Given the description of an element on the screen output the (x, y) to click on. 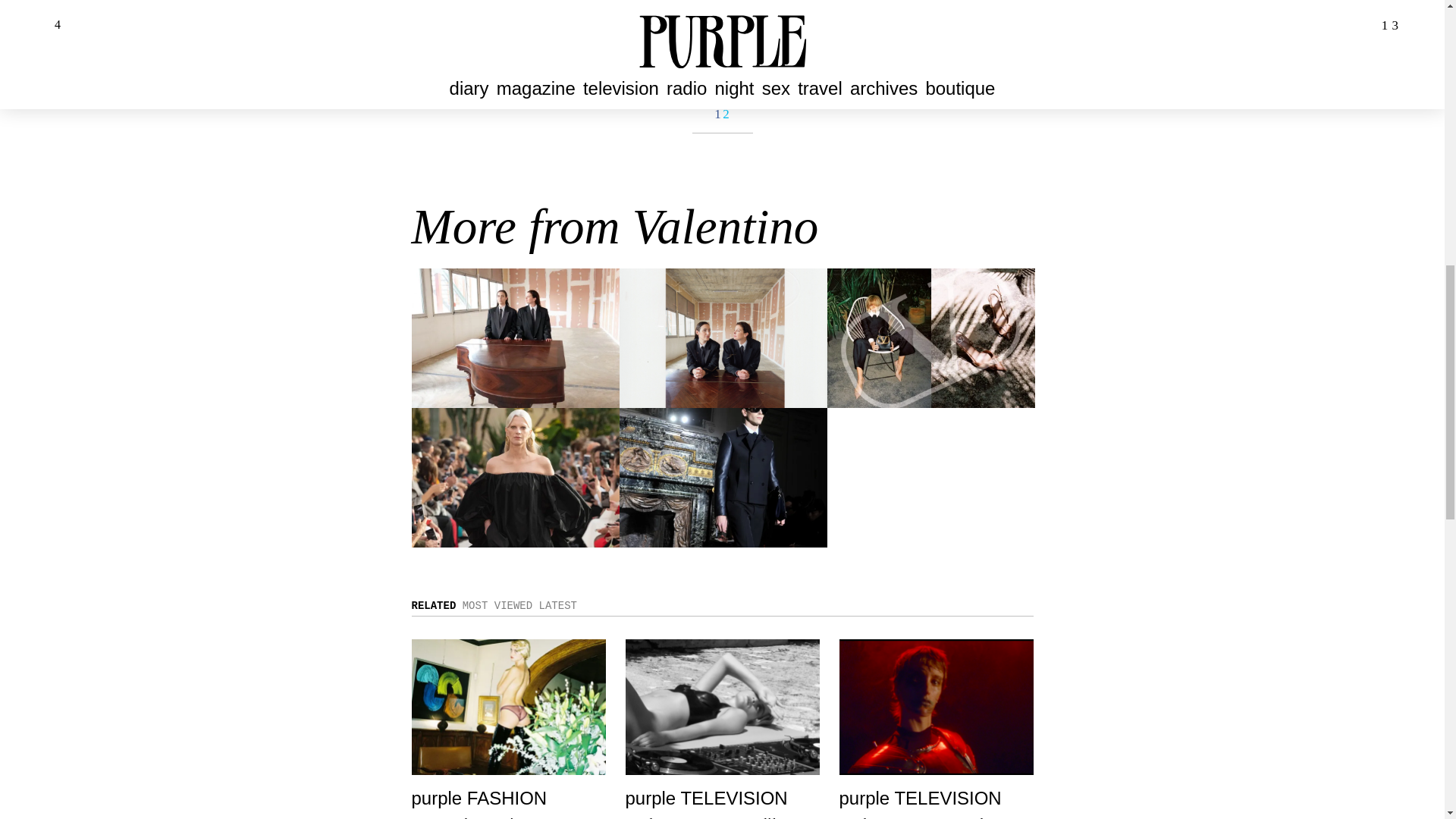
LATEST (557, 605)
MOST VIEWED (497, 605)
More from Valentino (614, 226)
RELATED (432, 605)
